Given the description of an element on the screen output the (x, y) to click on. 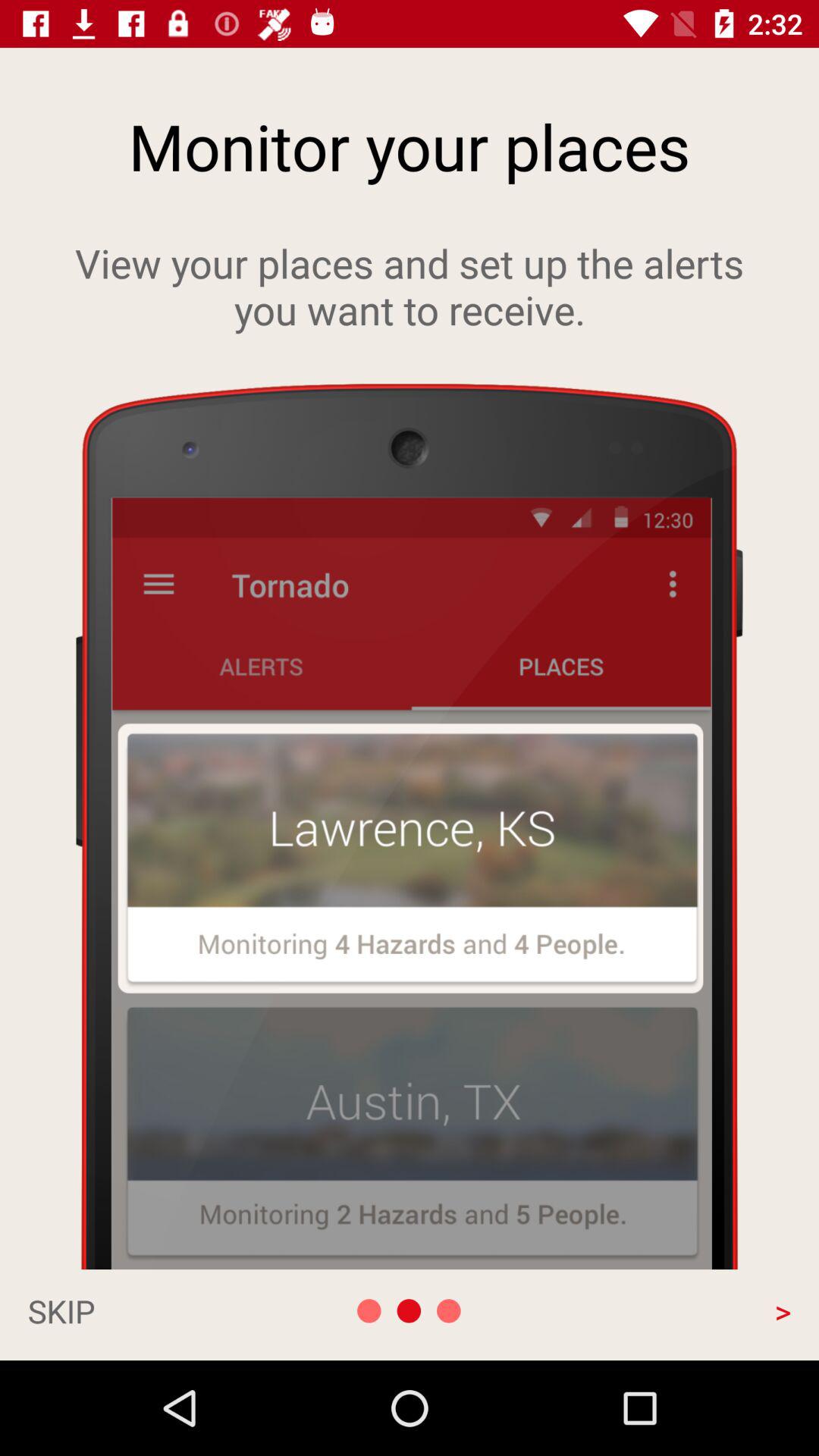
scroll until skip (141, 1310)
